Given the description of an element on the screen output the (x, y) to click on. 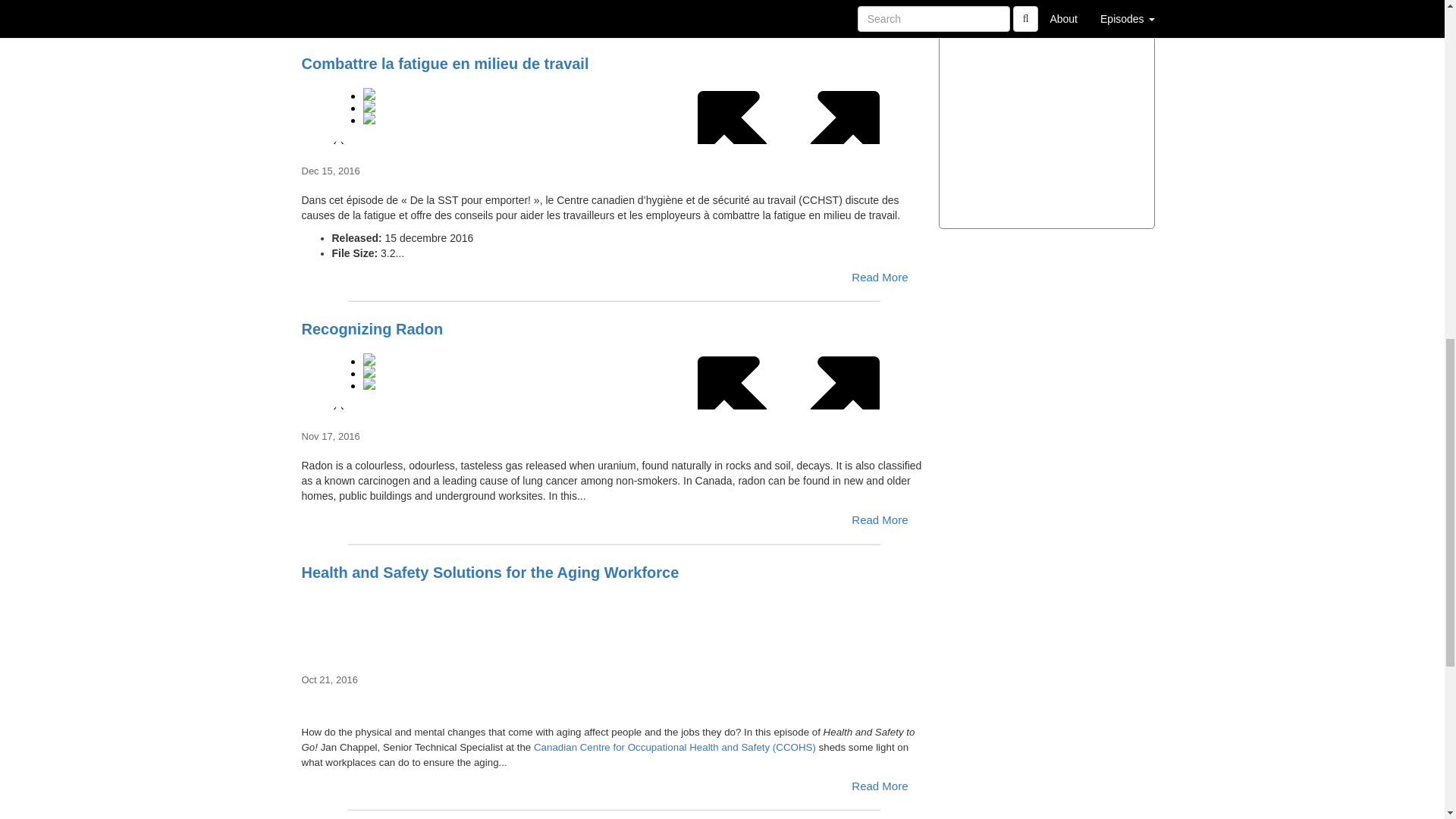
Recognizing Radon (614, 375)
Combattre la fatigue en milieu de travail (614, 110)
Health and Safety Solutions for the Aging Workforce (614, 618)
